Given the description of an element on the screen output the (x, y) to click on. 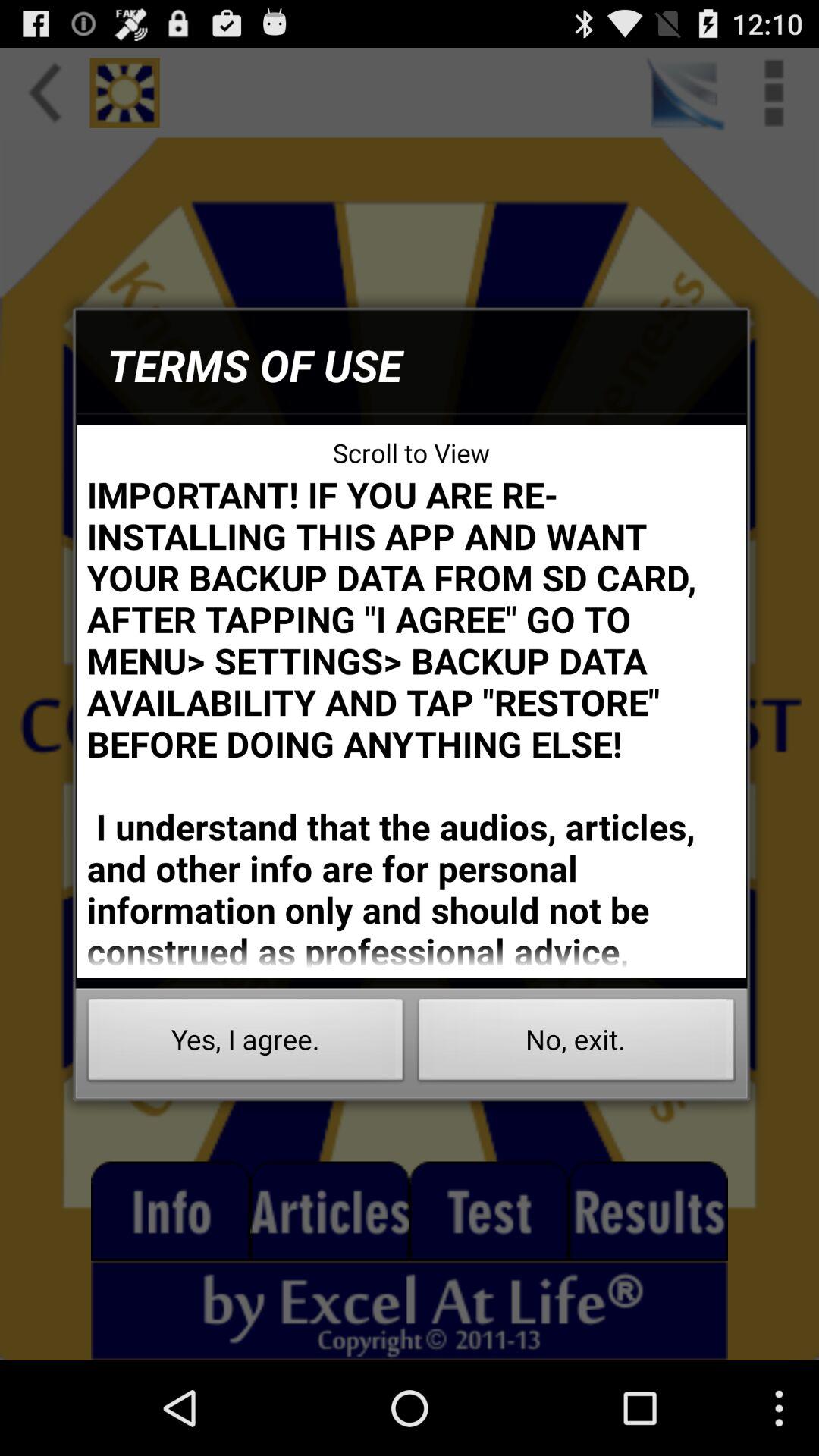
launch the icon below the important if you icon (576, 1044)
